Given the description of an element on the screen output the (x, y) to click on. 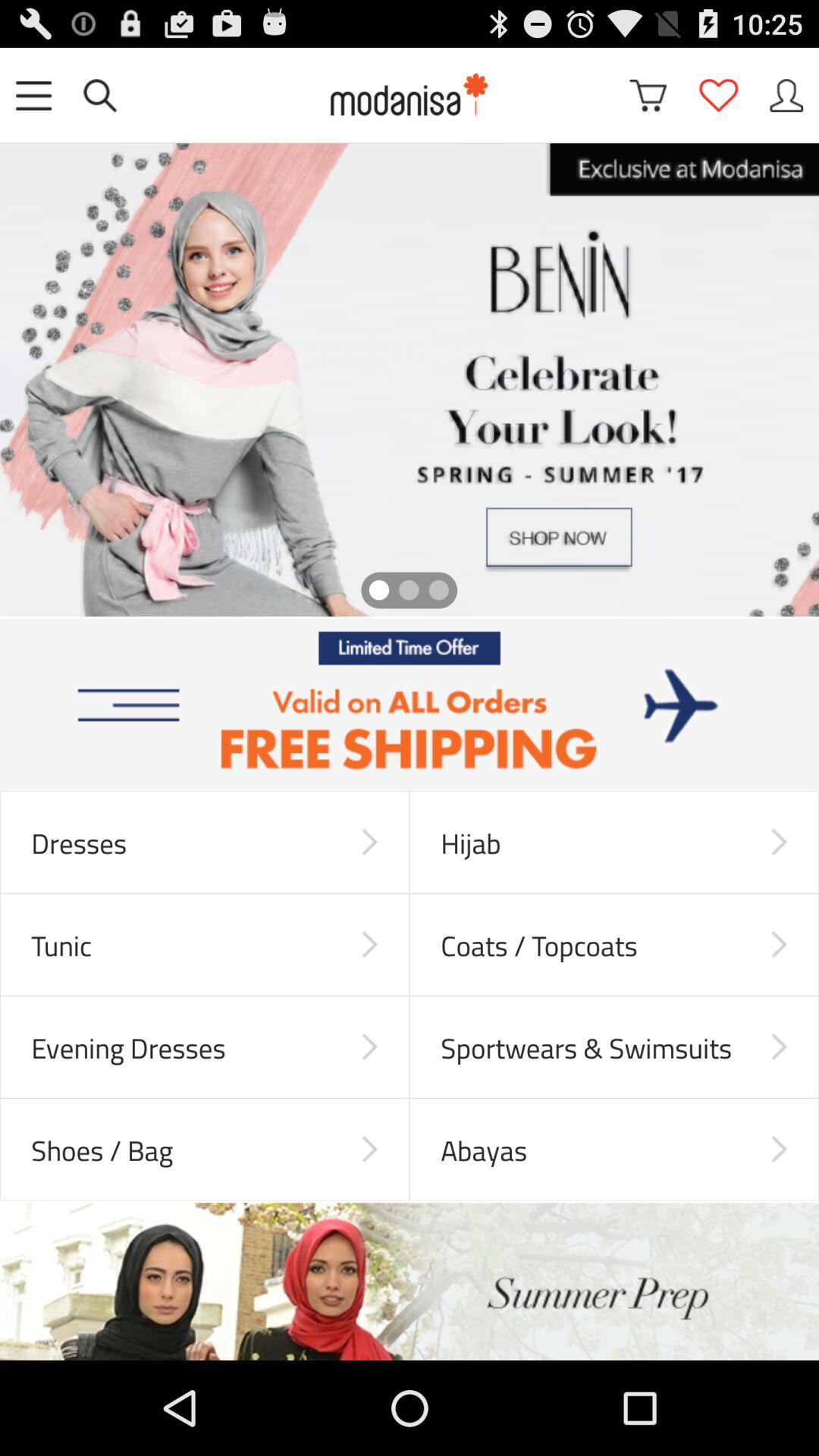
favorite (718, 95)
